Given the description of an element on the screen output the (x, y) to click on. 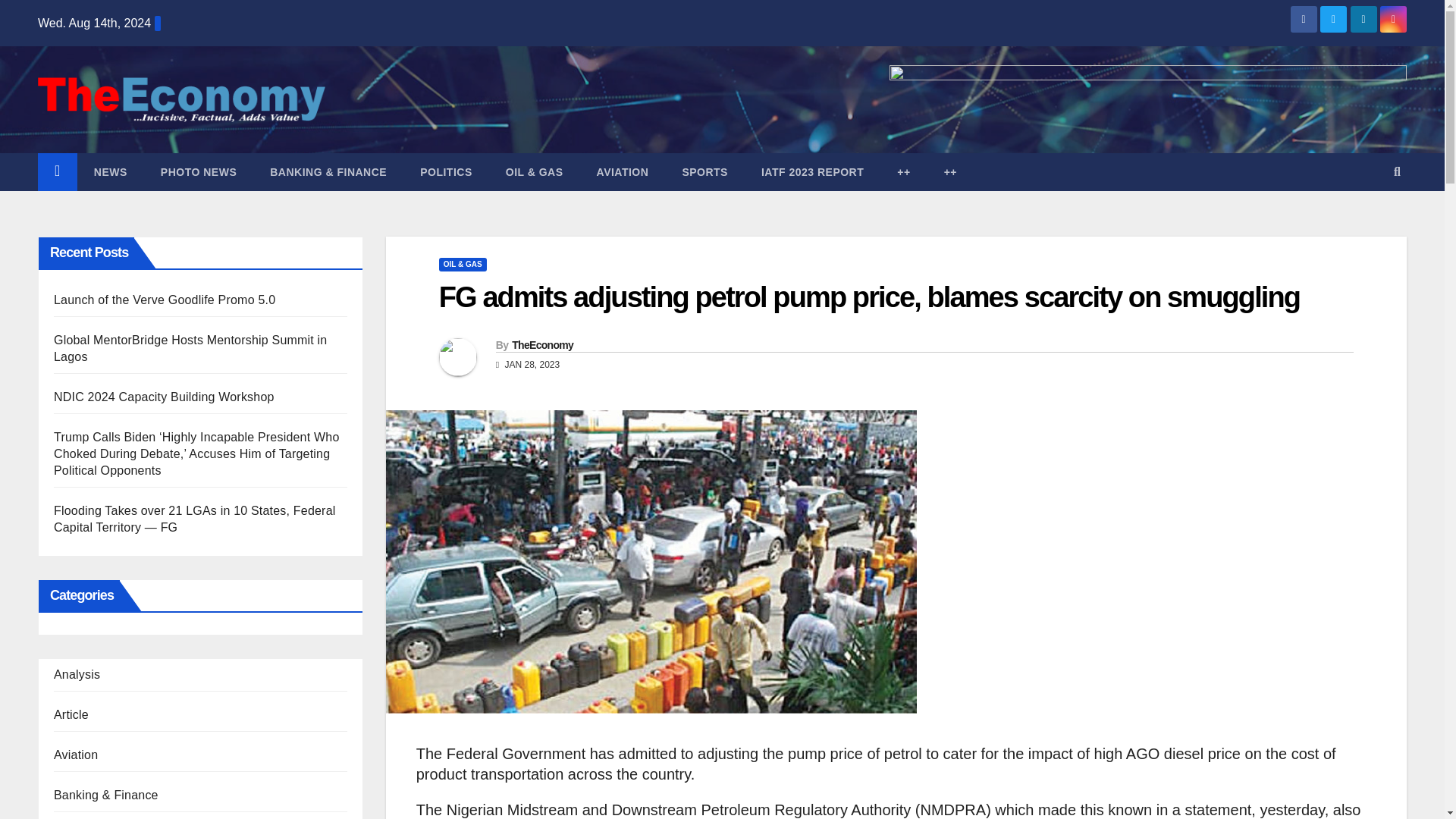
POLITICS (446, 171)
Politics (446, 171)
Aviation (622, 171)
SPORTS (704, 171)
NEWS (110, 171)
IATF 2023 REPORT (812, 171)
Sports (704, 171)
AVIATION (622, 171)
PHOTO NEWS (198, 171)
Photo News (198, 171)
